Given the description of an element on the screen output the (x, y) to click on. 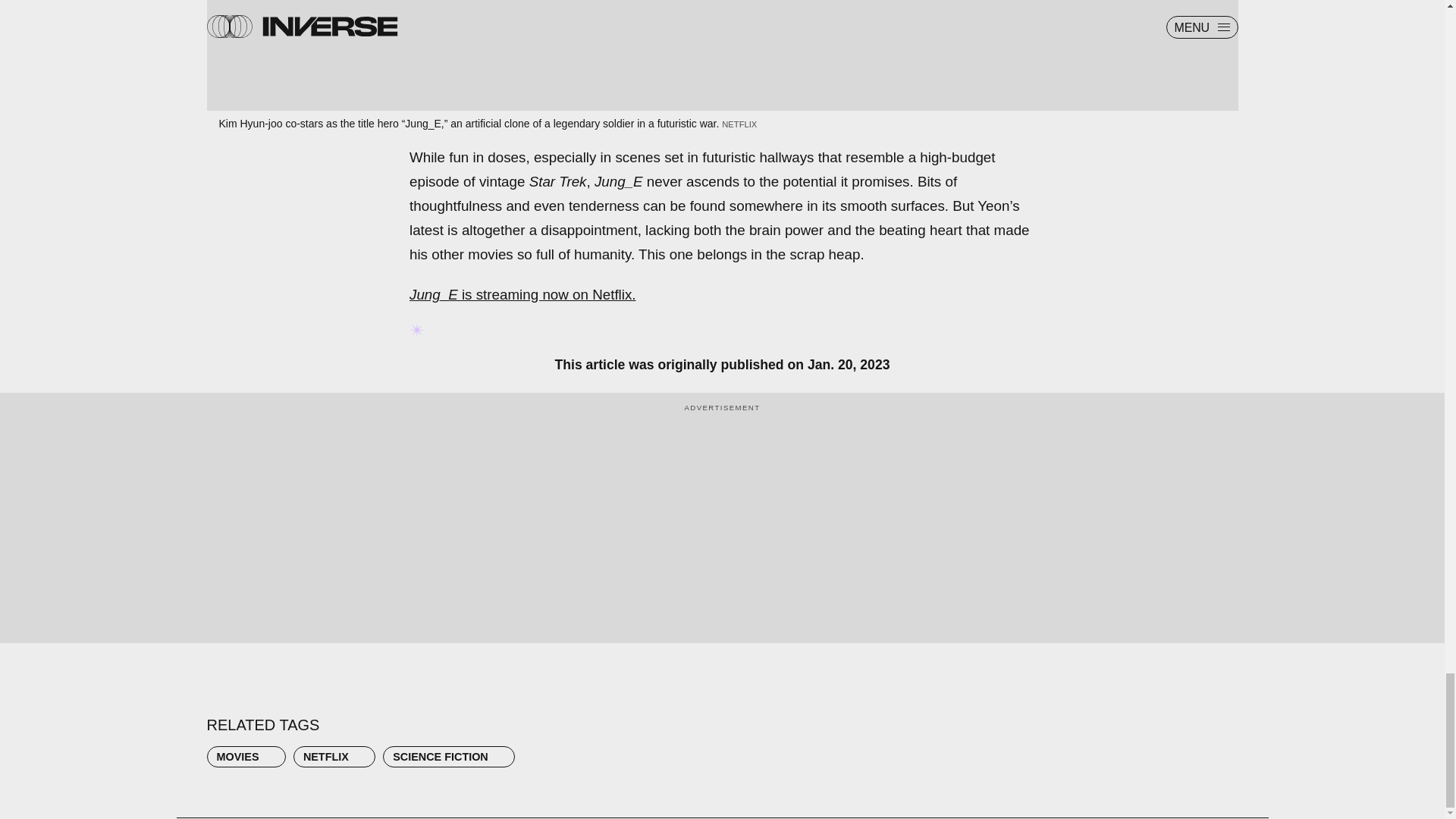
SCIENCE FICTION (448, 756)
MOVIES (245, 756)
NETFLIX (334, 756)
